Given the description of an element on the screen output the (x, y) to click on. 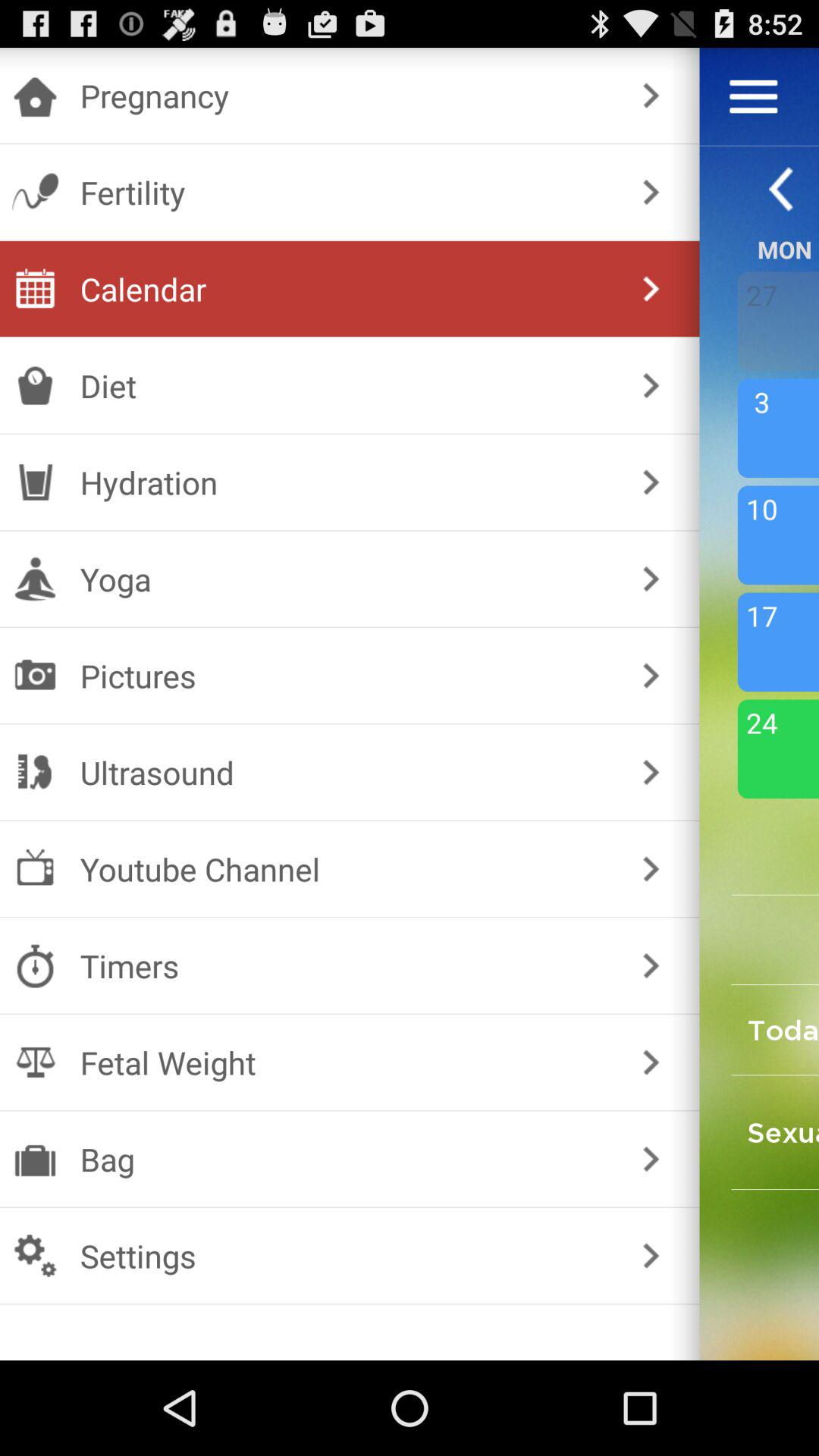
turn on the icon next to the 3 (651, 481)
